Given the description of an element on the screen output the (x, y) to click on. 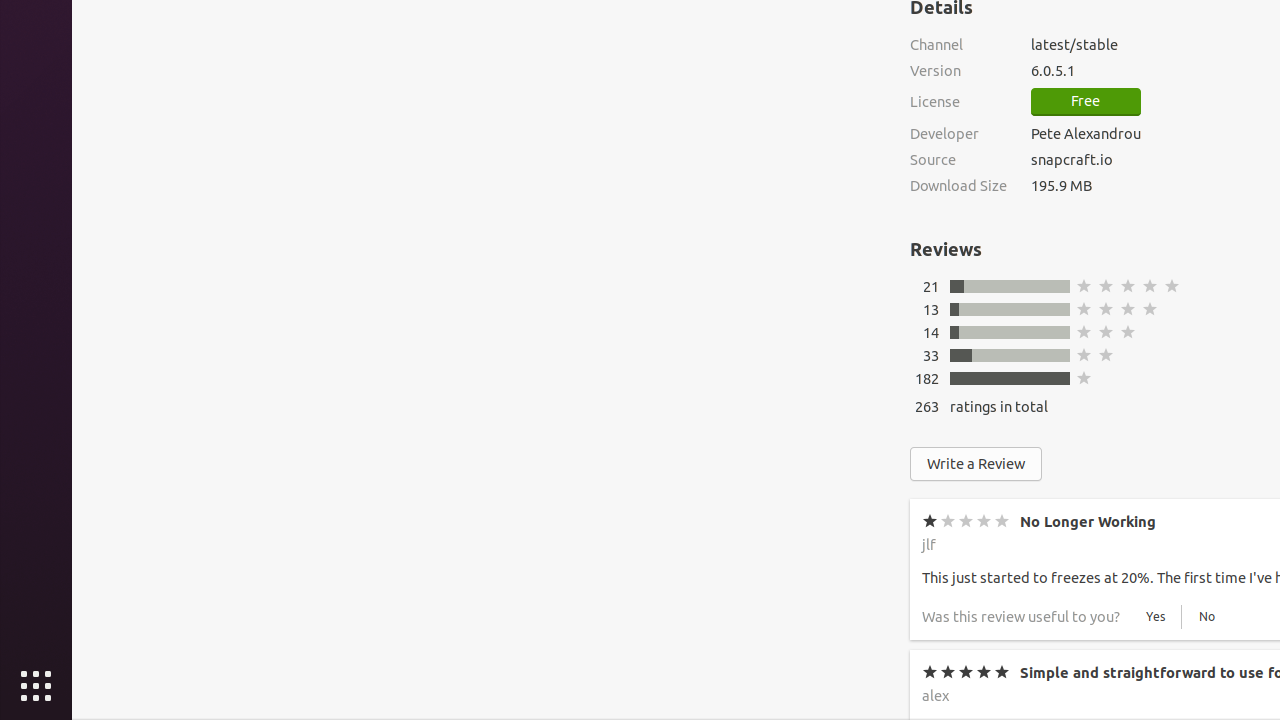
21 Element type: label (931, 286)
Pete Alexandrou Element type: label (1086, 133)
33 Element type: label (931, 355)
Write a Review Element type: push-button (976, 463)
No Longer Working Element type: label (1088, 521)
